Given the description of an element on the screen output the (x, y) to click on. 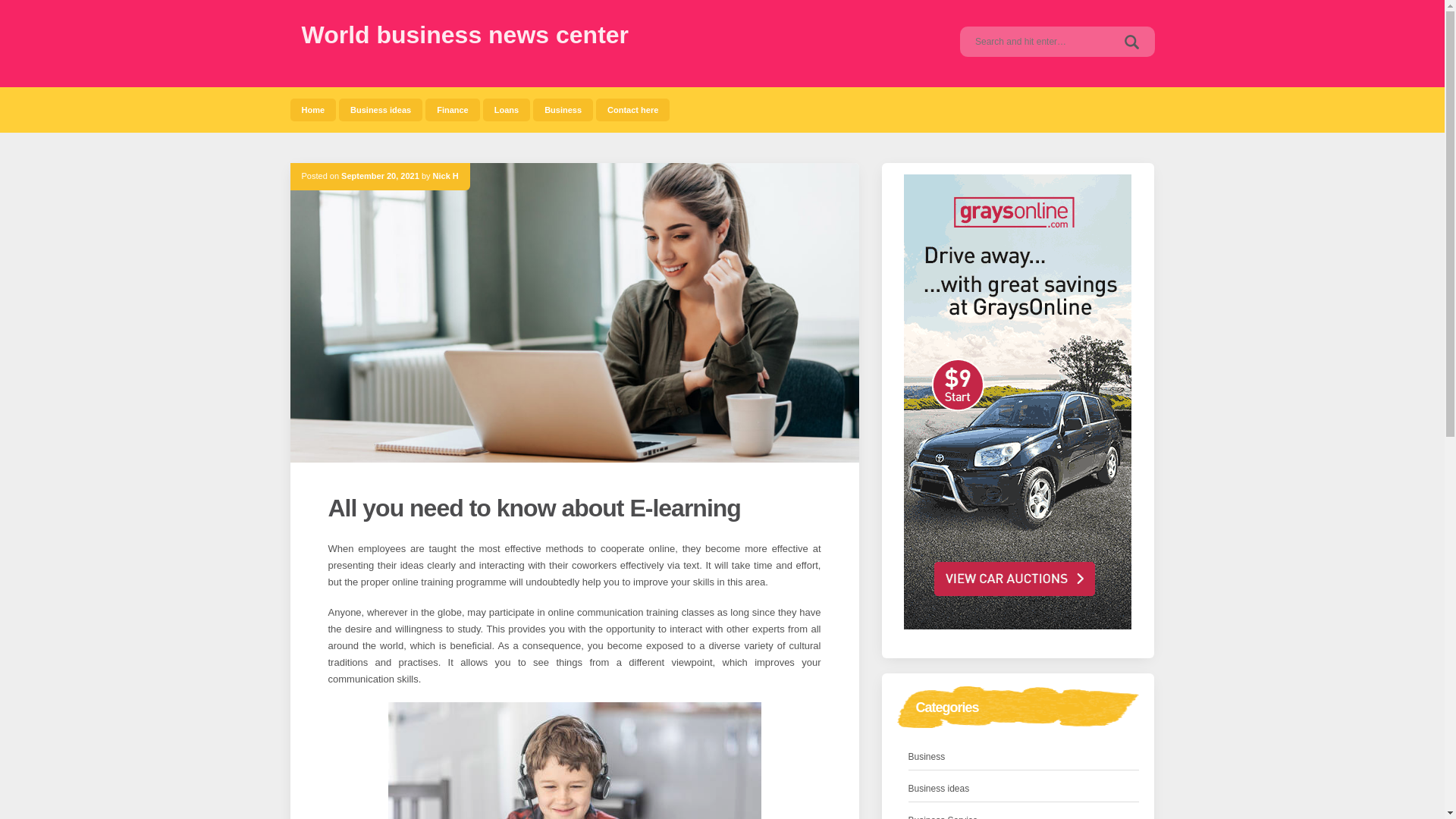
Business ideas (380, 109)
Business (562, 109)
Contact here (632, 109)
Home (312, 109)
Loans (506, 109)
Finance (452, 109)
Search (1131, 41)
Contact here (632, 109)
Business ideas (938, 788)
Business Service (943, 816)
Business ideas (380, 109)
World business news center (464, 34)
Loans (506, 109)
Nick H (445, 175)
Business (562, 109)
